Given the description of an element on the screen output the (x, y) to click on. 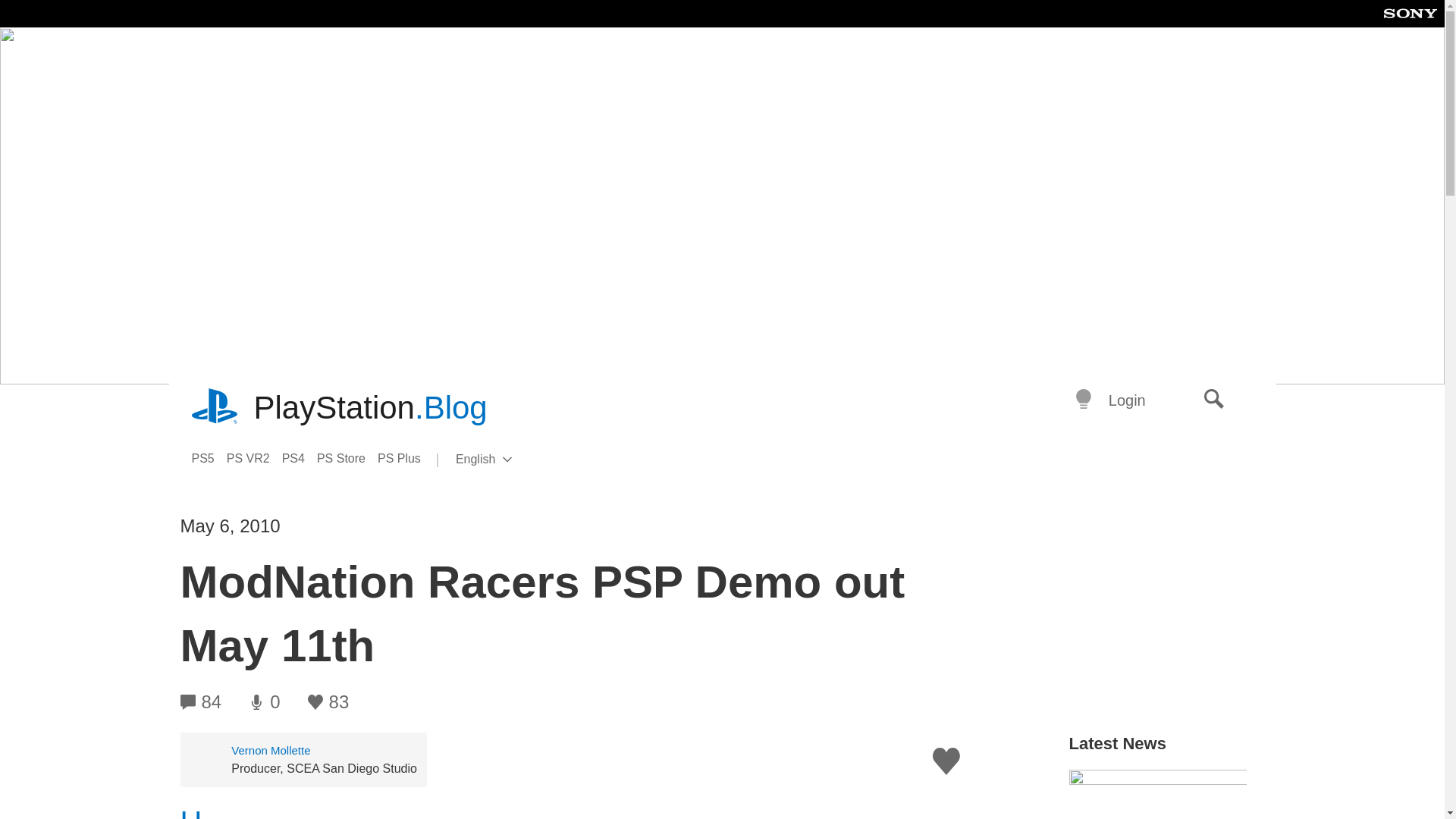
Like this (946, 760)
PS Store (347, 458)
PS5 (207, 458)
Search (1214, 400)
PlayStation.Blog (369, 407)
playstation.com (215, 408)
PS4 (299, 458)
PS Plus (404, 458)
PS VR2 (508, 459)
Login (254, 458)
